Given the description of an element on the screen output the (x, y) to click on. 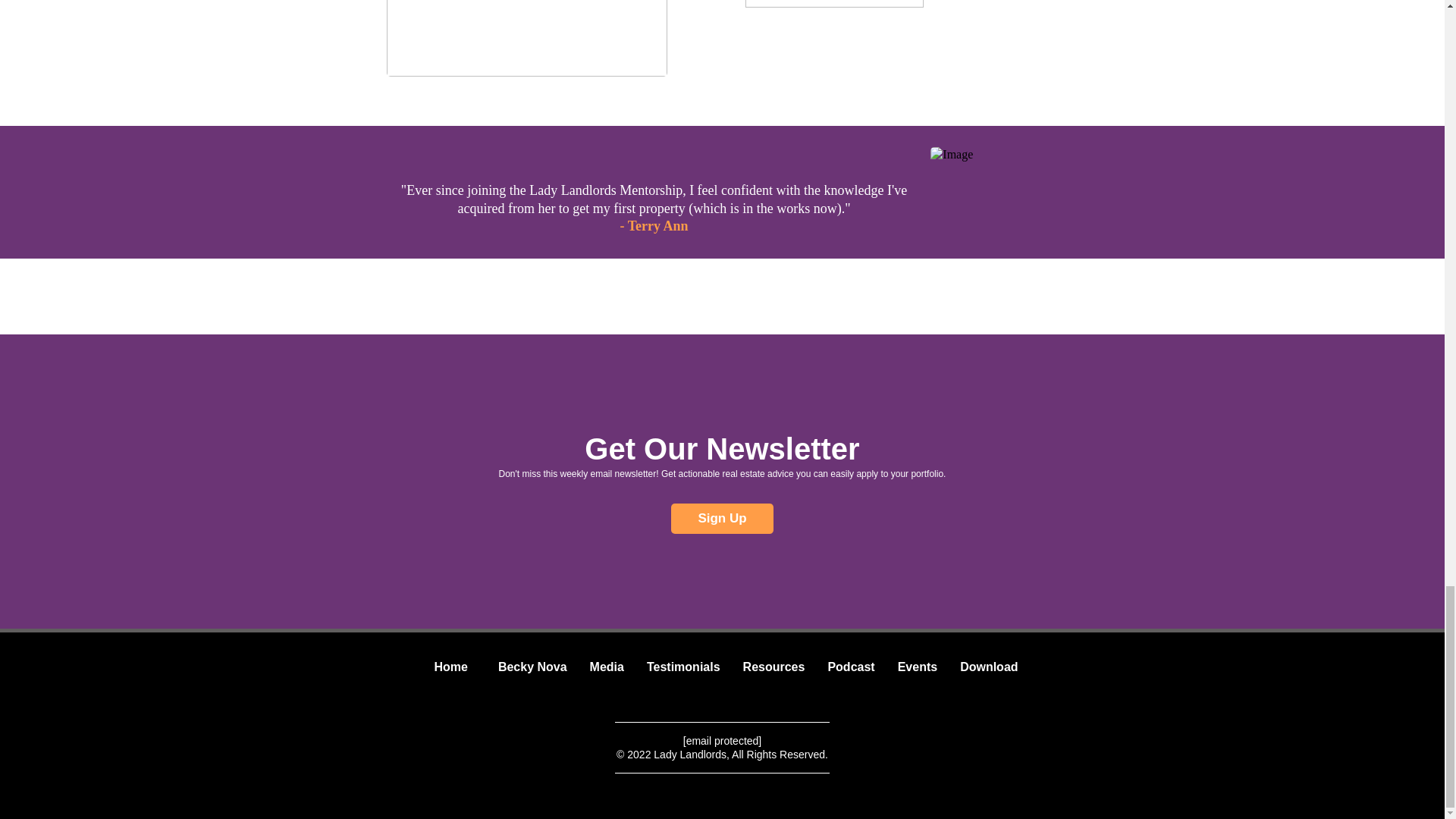
Podcast (850, 666)
Resources (774, 666)
Media (606, 666)
Events (917, 666)
Becky Nova (532, 666)
Testimonials (683, 666)
Home (450, 666)
Download (989, 666)
Sign Up (722, 518)
